Given the description of an element on the screen output the (x, y) to click on. 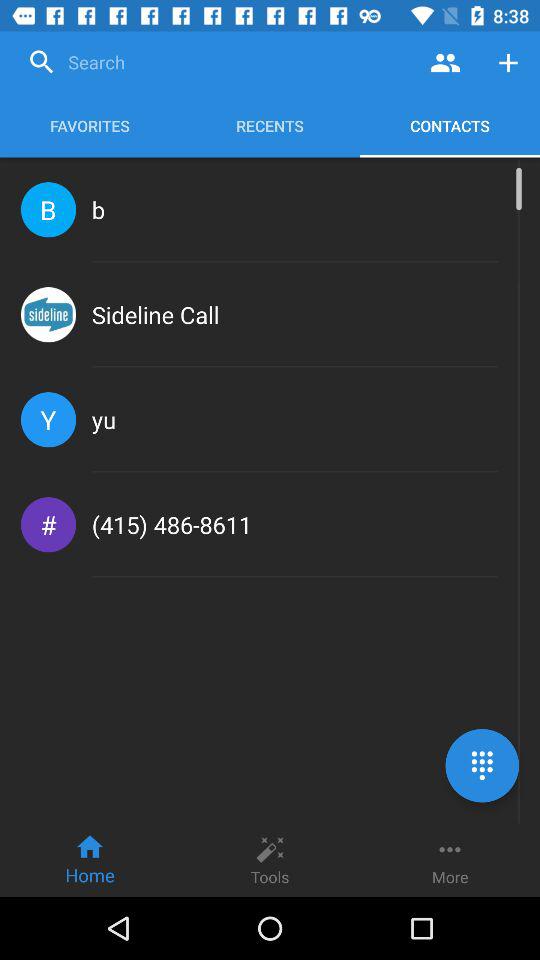
view contacts (445, 62)
